Given the description of an element on the screen output the (x, y) to click on. 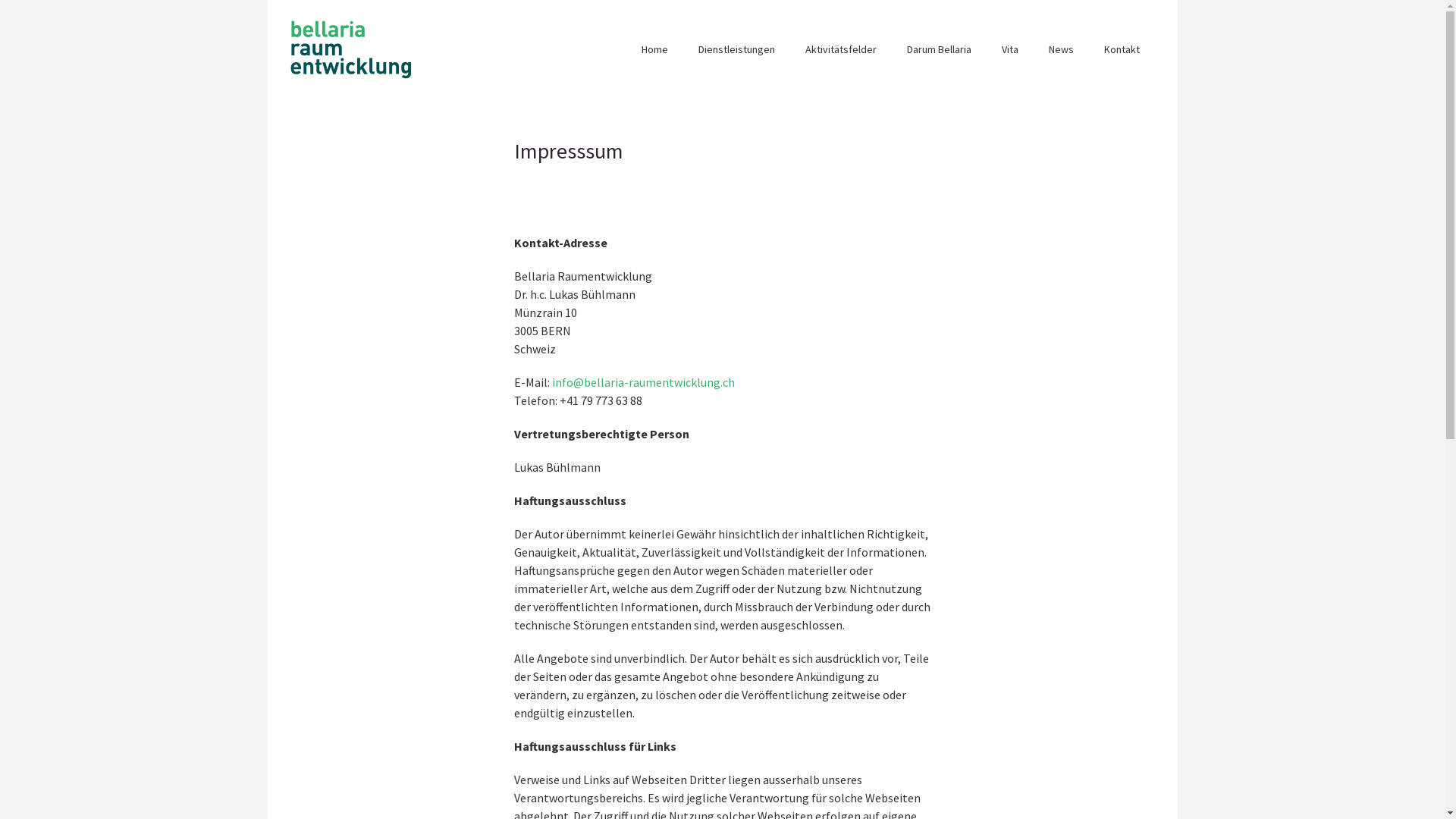
Home Element type: text (654, 49)
Kontakt Element type: text (1121, 49)
News Element type: text (1060, 49)
Dienstleistungen Element type: text (735, 49)
info@bellaria-raumentwicklung.ch Element type: text (643, 381)
Vita Element type: text (1008, 49)
Darum Bellaria Element type: text (938, 49)
